Given the description of an element on the screen output the (x, y) to click on. 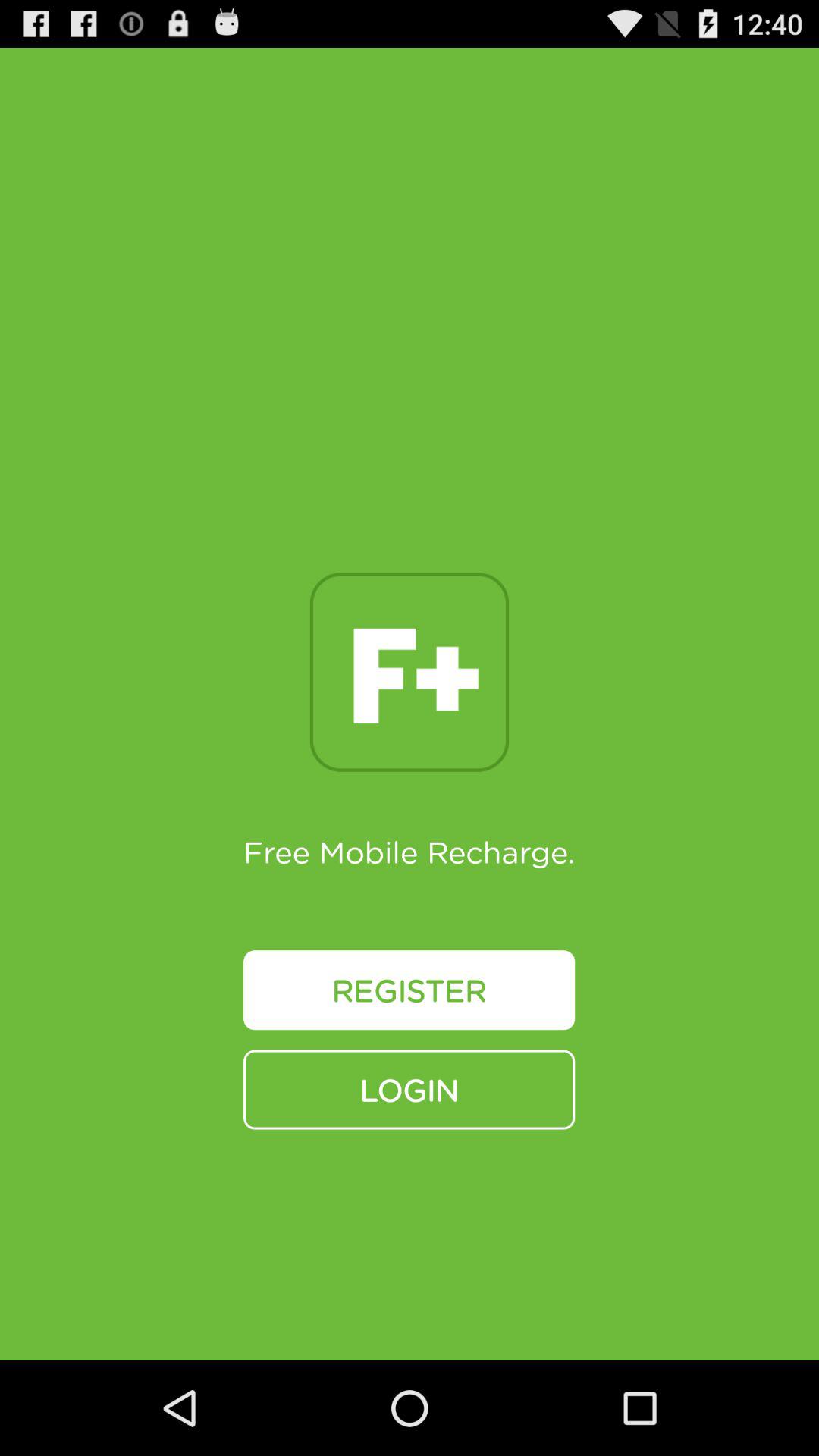
flip to the register button (409, 990)
